Given the description of an element on the screen output the (x, y) to click on. 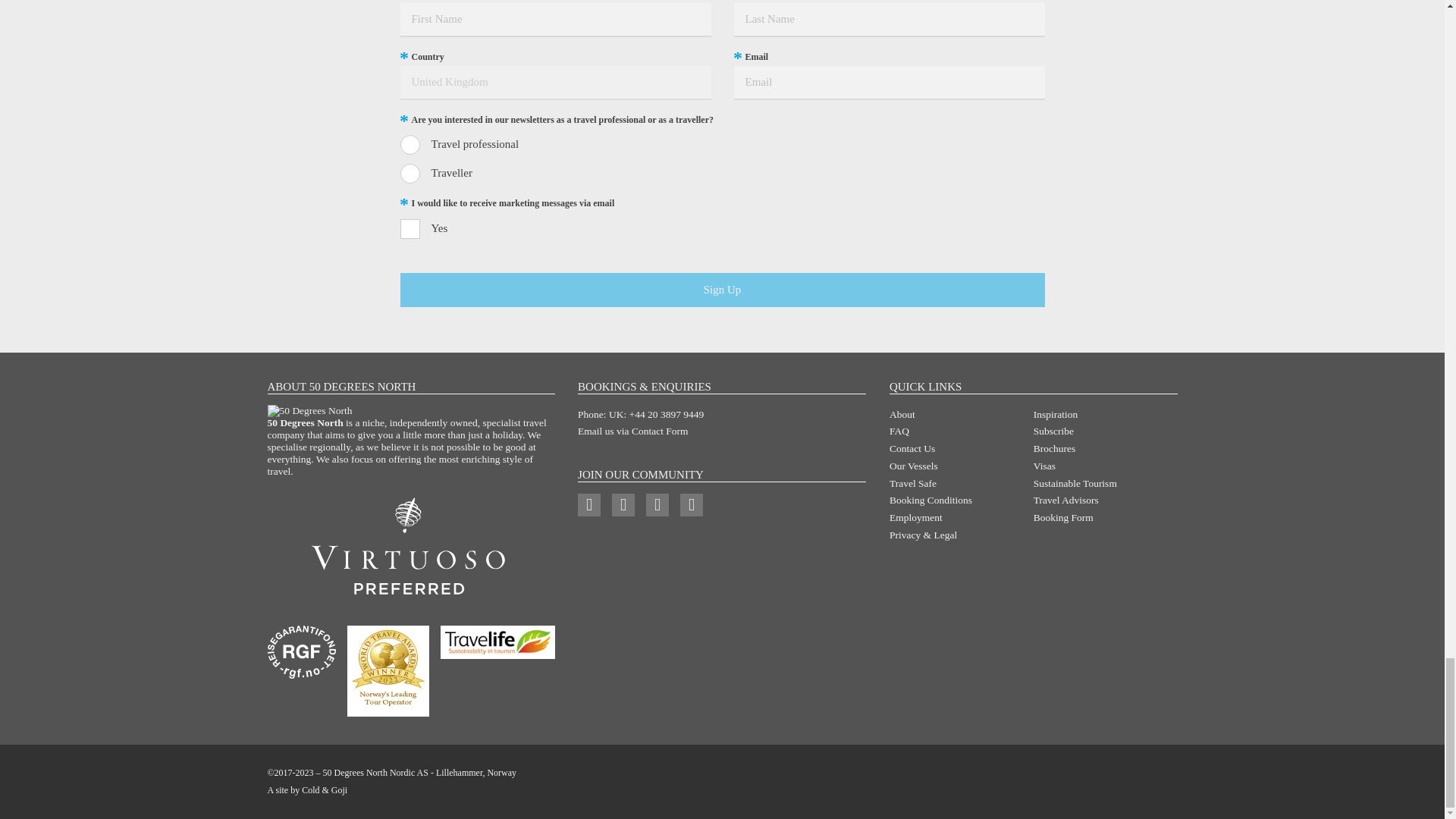
1 (410, 229)
00NVg000000RE25 (410, 173)
00NVg000000RE0T (410, 144)
